Given the description of an element on the screen output the (x, y) to click on. 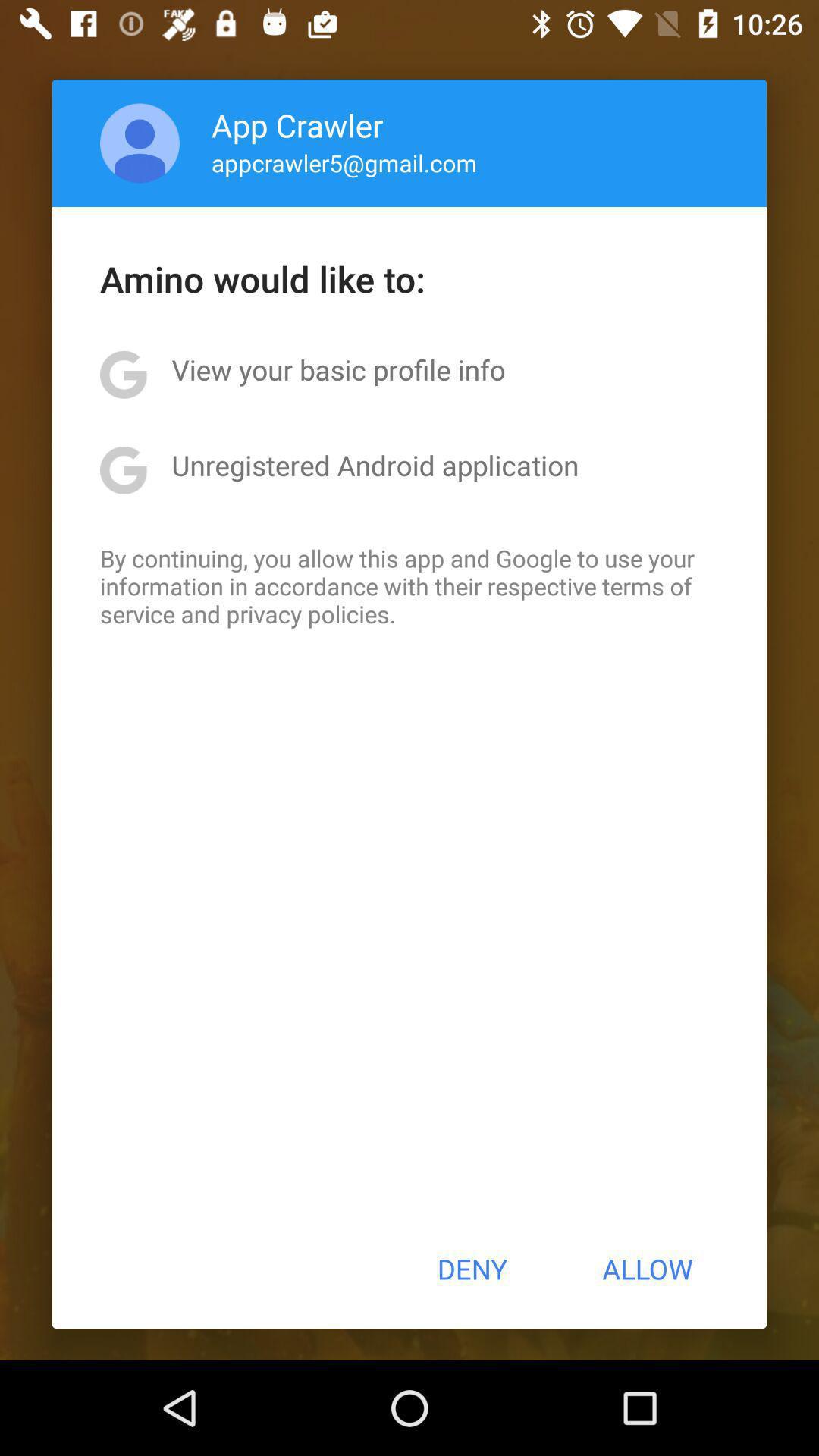
turn on app above the by continuing you item (374, 465)
